Given the description of an element on the screen output the (x, y) to click on. 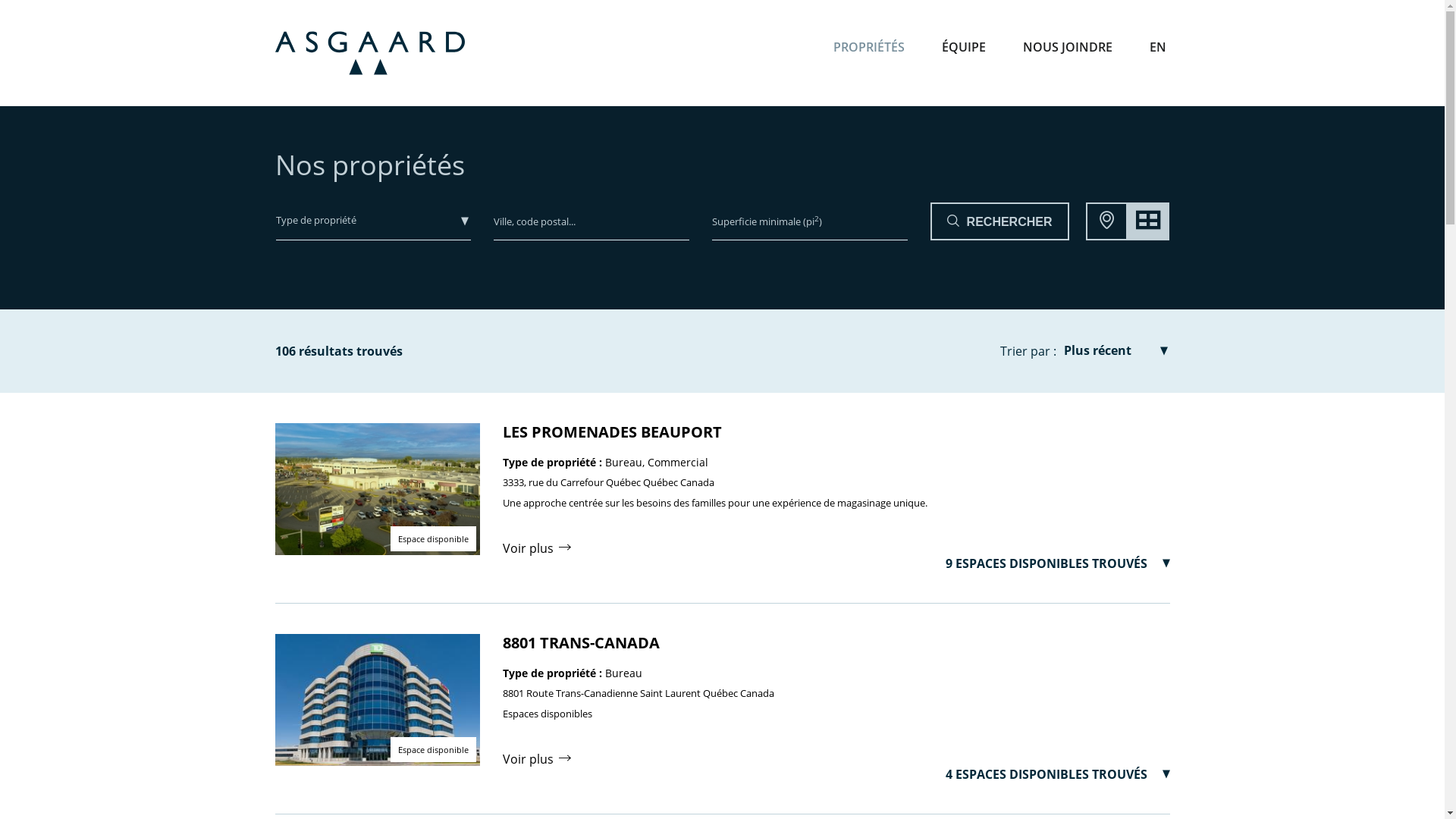
EN Element type: text (1157, 46)
Espace disponible Element type: text (376, 699)
Accueil Element type: hover (369, 52)
Voir plus Element type: text (536, 548)
NOUS JOINDRE Element type: text (1067, 46)
8801 TRANS-CANADA Element type: text (580, 642)
LES PROMENADES BEAUPORT Element type: text (611, 431)
Carte Element type: hover (1106, 221)
Liste Element type: hover (1147, 221)
Espace disponible Element type: text (376, 489)
RECHERCHER Element type: text (999, 221)
Voir plus Element type: text (536, 758)
